Given the description of an element on the screen output the (x, y) to click on. 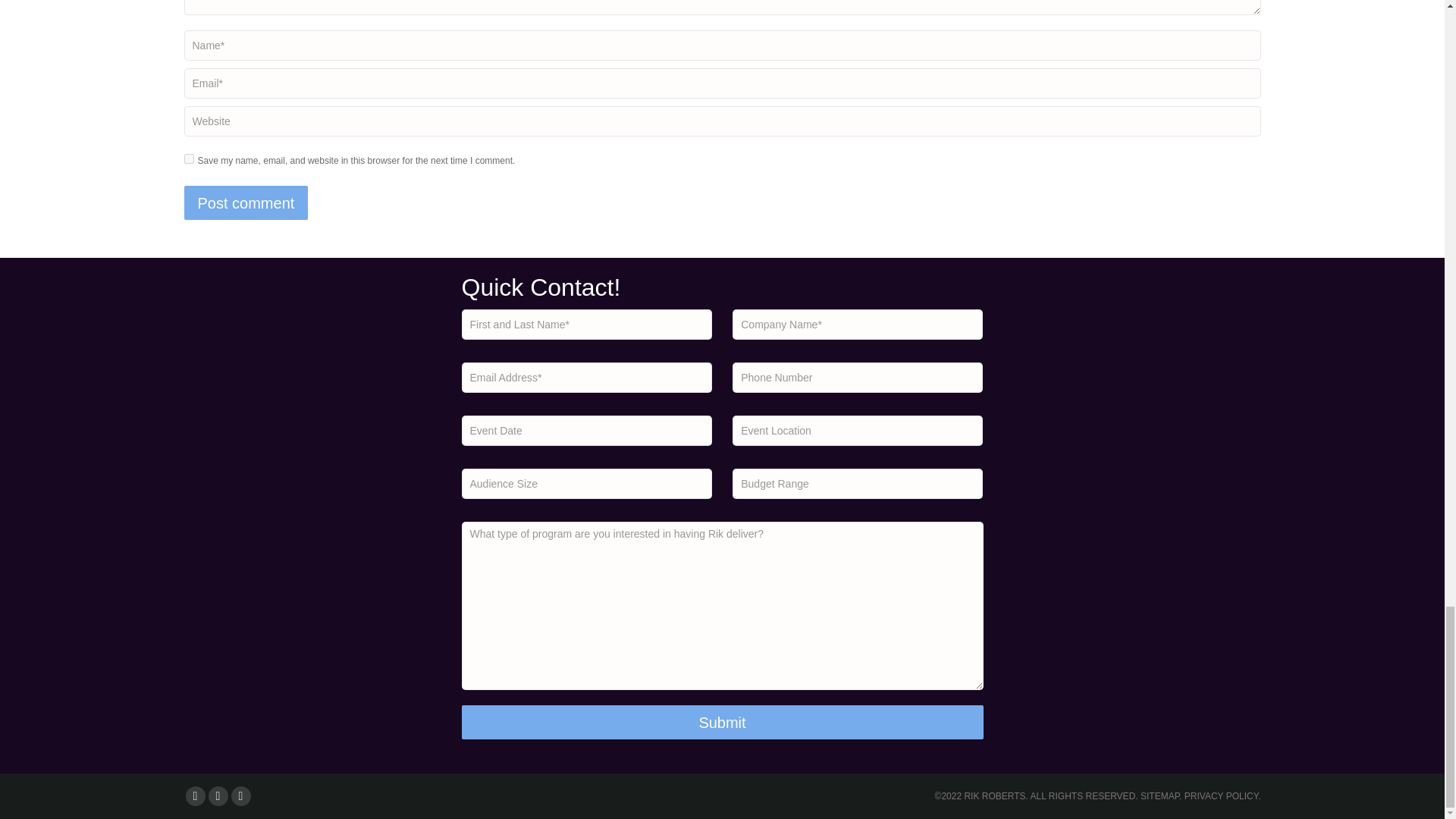
Facebook page opens in new window (194, 795)
yes (188, 158)
Submit (721, 722)
X page opens in new window (217, 795)
Linkedin page opens in new window (240, 795)
